Given the description of an element on the screen output the (x, y) to click on. 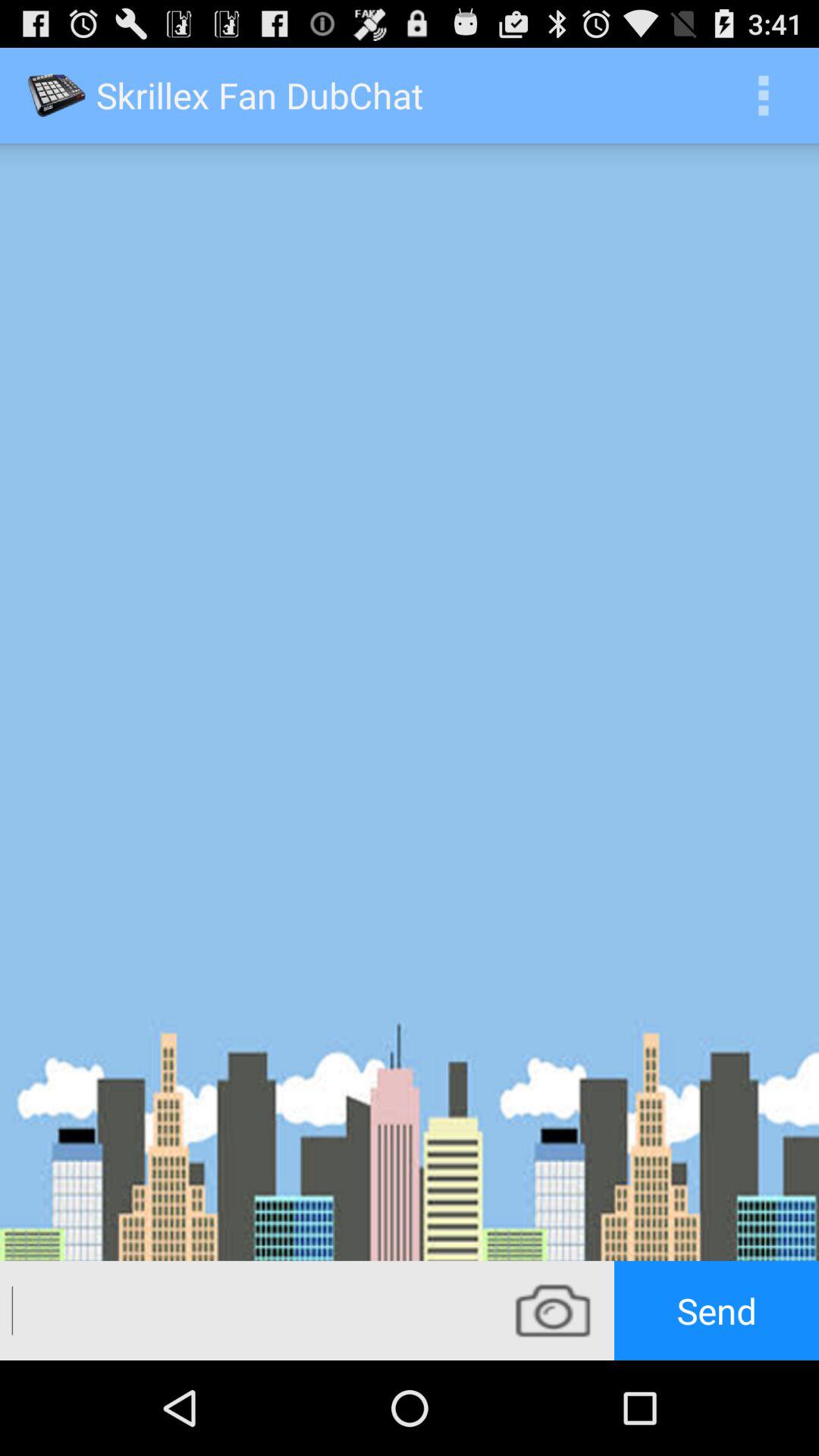
caption your photo (245, 1310)
